Given the description of an element on the screen output the (x, y) to click on. 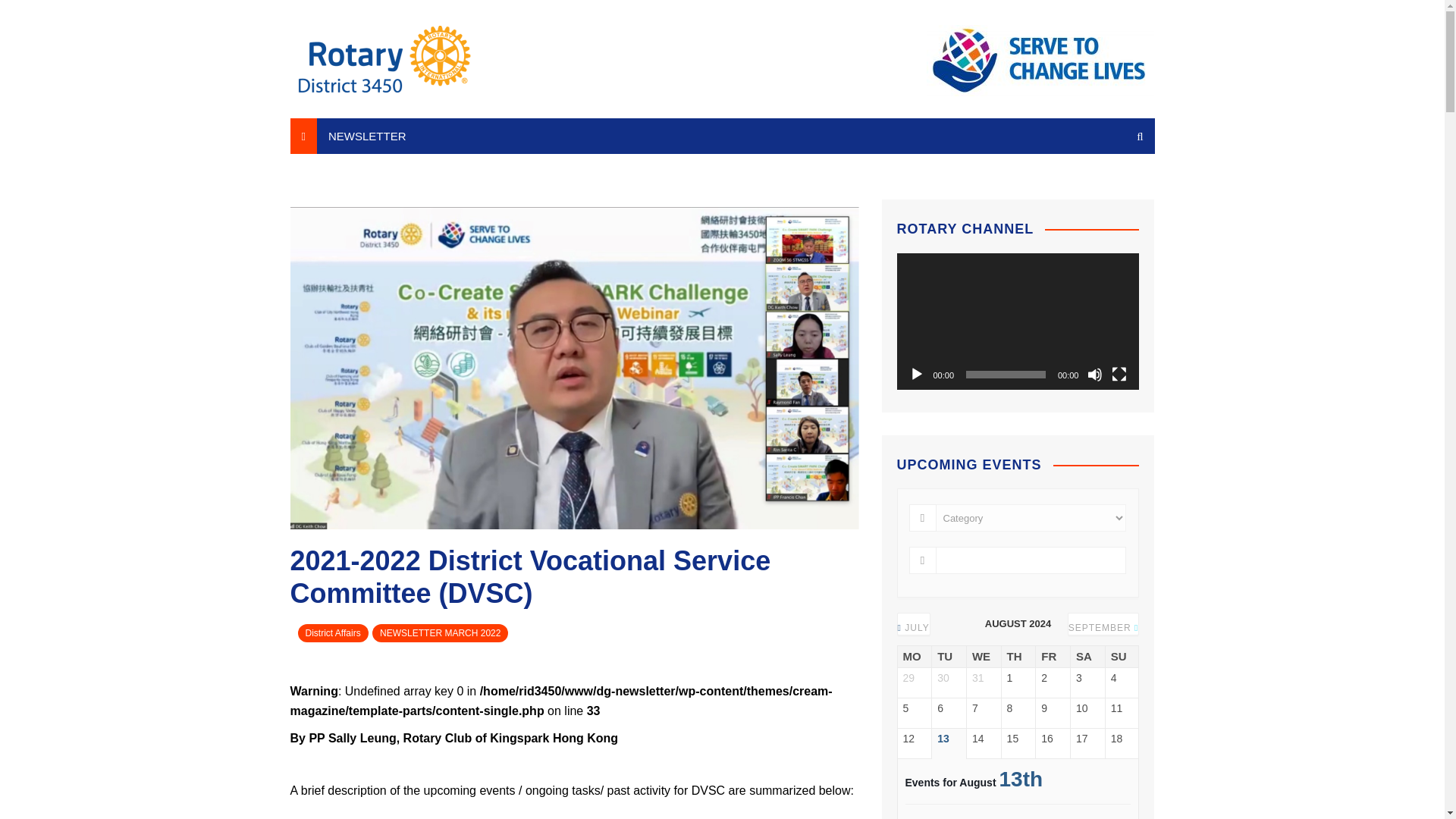
Fullscreen (1119, 374)
NEWSLETTER (367, 135)
Play (915, 374)
District Affairs (332, 633)
Mute (1094, 374)
NEWSLETTER MARCH 2022 (440, 633)
JULY (914, 627)
